Given the description of an element on the screen output the (x, y) to click on. 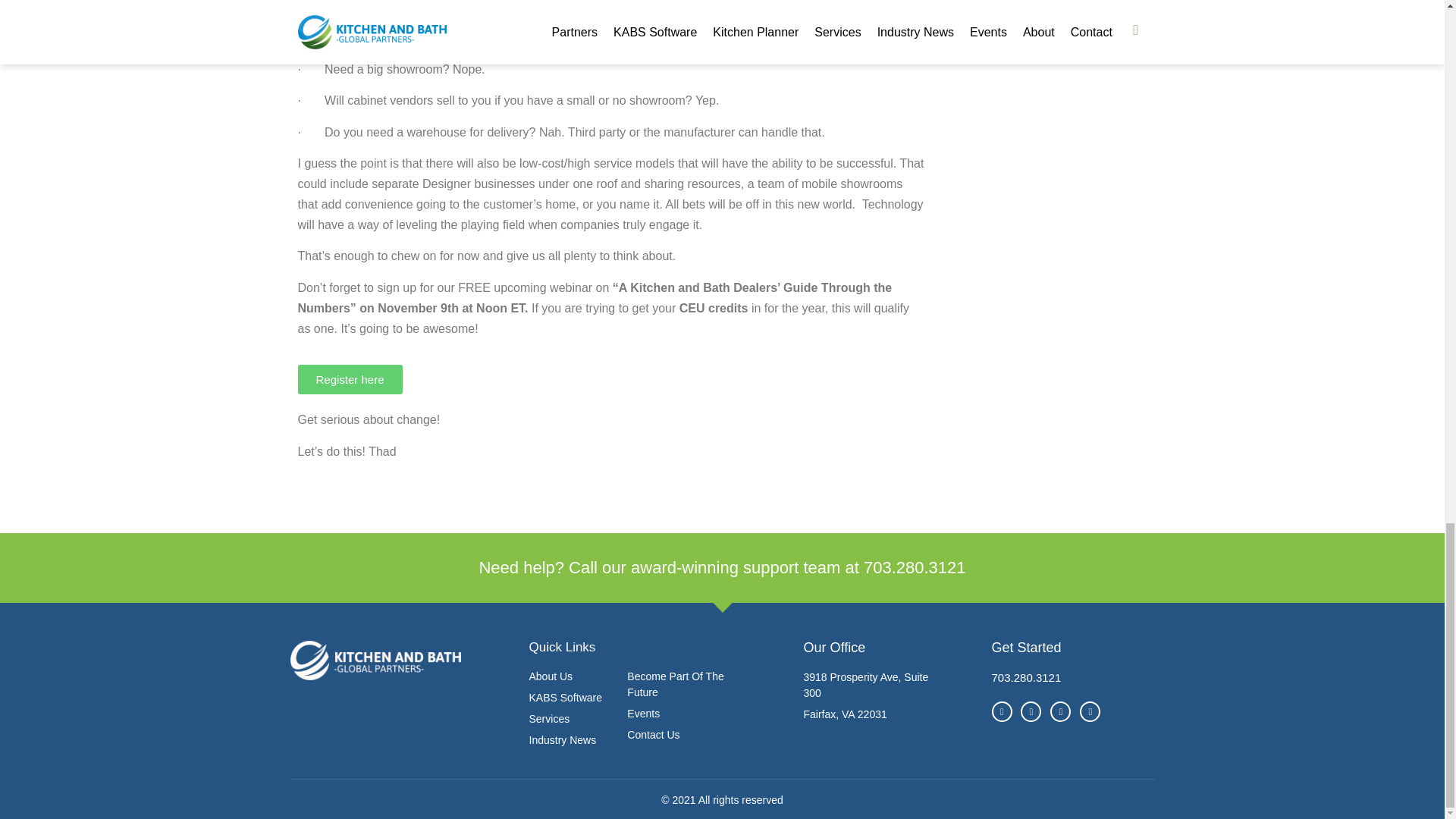
Register here (349, 378)
